Given the description of an element on the screen output the (x, y) to click on. 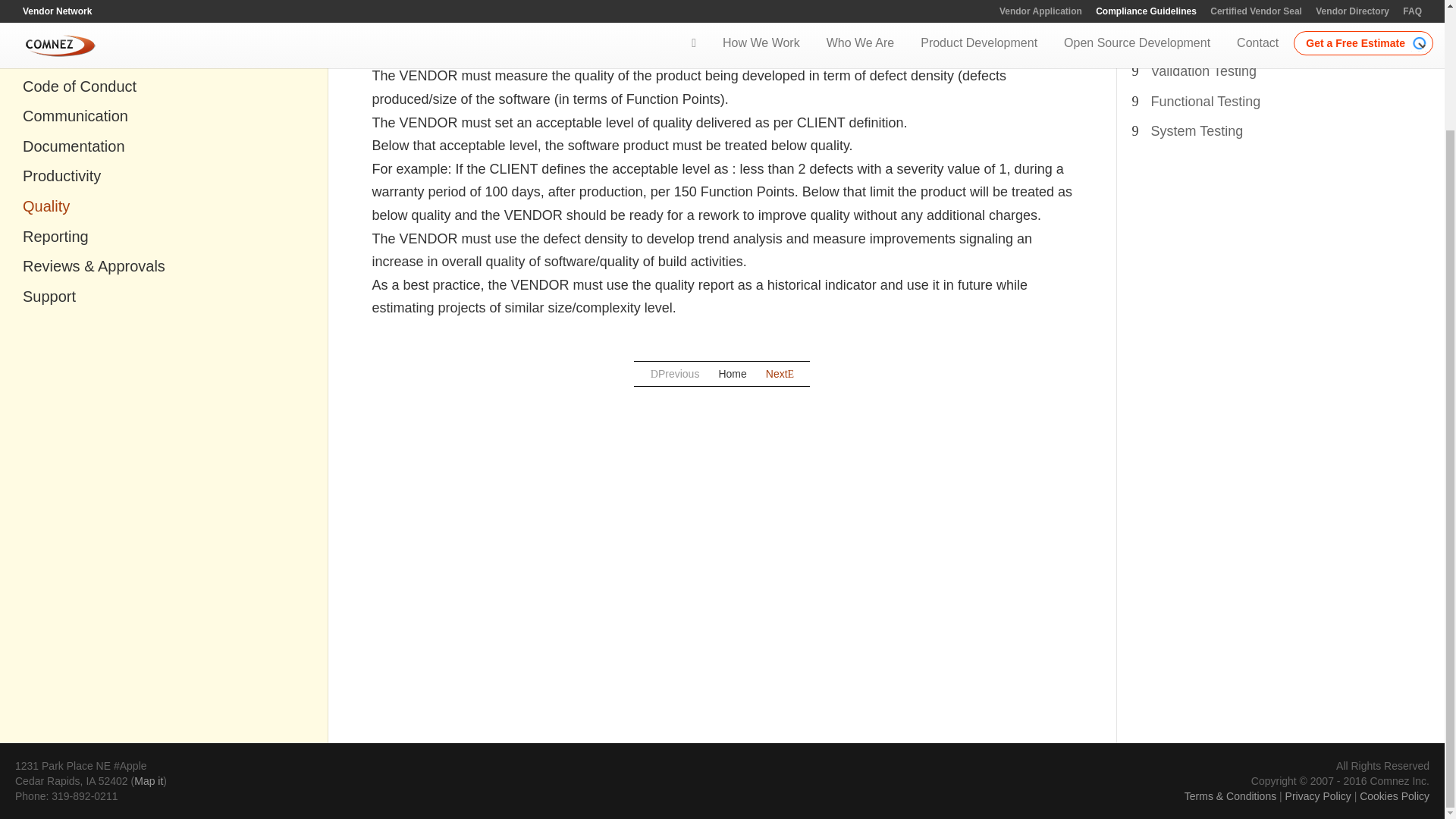
Code of Conduct (163, 86)
Support (163, 296)
Quality (163, 206)
Compliance Guidelines Home (113, 7)
Communication (163, 115)
Documentation (163, 146)
Introduction (163, 56)
Reporting (163, 236)
Productivity (163, 176)
